Given the description of an element on the screen output the (x, y) to click on. 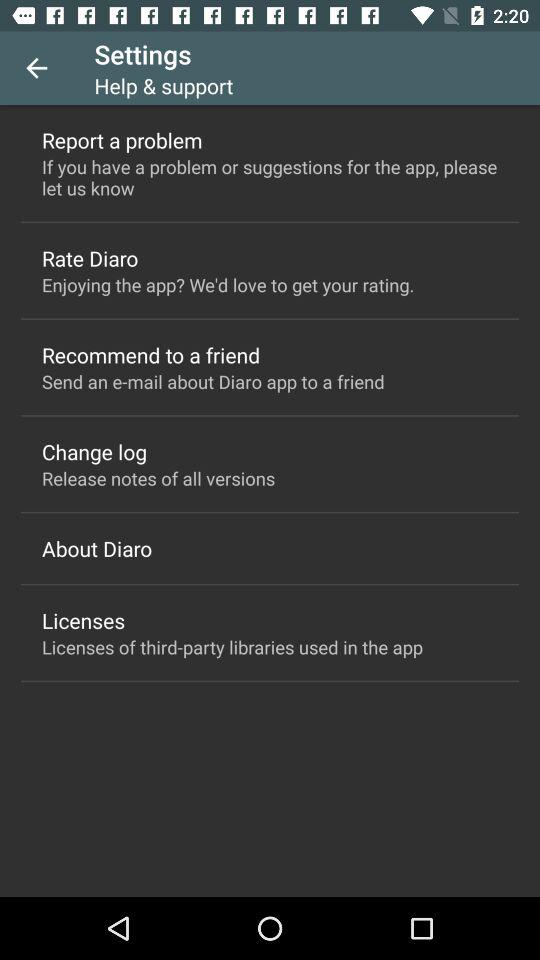
open icon below licenses item (232, 646)
